Given the description of an element on the screen output the (x, y) to click on. 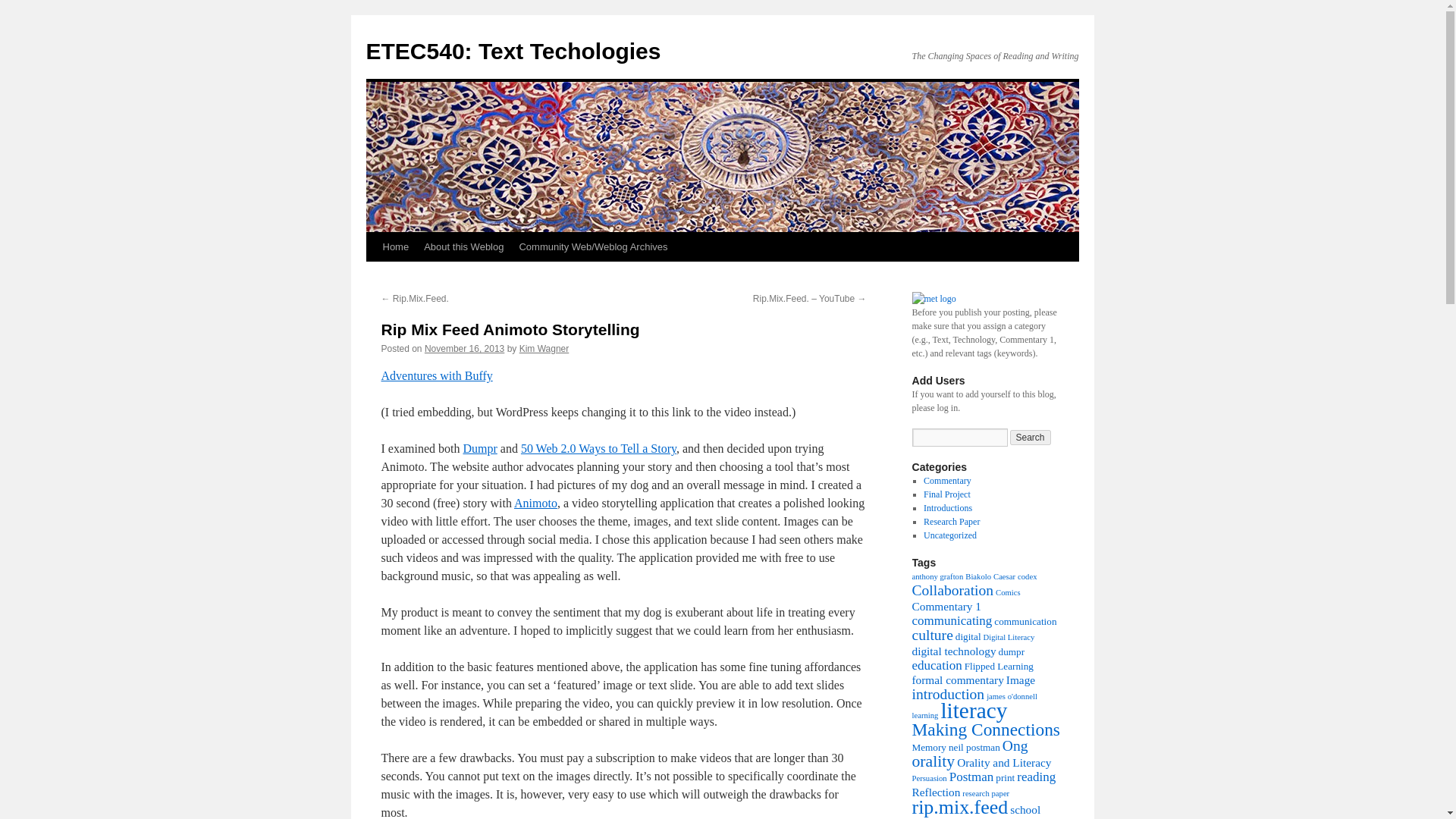
View all posts by Kim Wagner (544, 348)
Home (395, 246)
Biakolo (978, 576)
Adventures with Buffy (436, 375)
ETEC540: Text Techologies (513, 50)
Search (1030, 437)
Uncategorized (949, 534)
Kim Wagner (544, 348)
Final Project (947, 493)
9:29 pm (464, 348)
communication (1025, 621)
Skip to content (372, 274)
Commentary (947, 480)
Skip to content (372, 274)
Search (1030, 437)
